Given the description of an element on the screen output the (x, y) to click on. 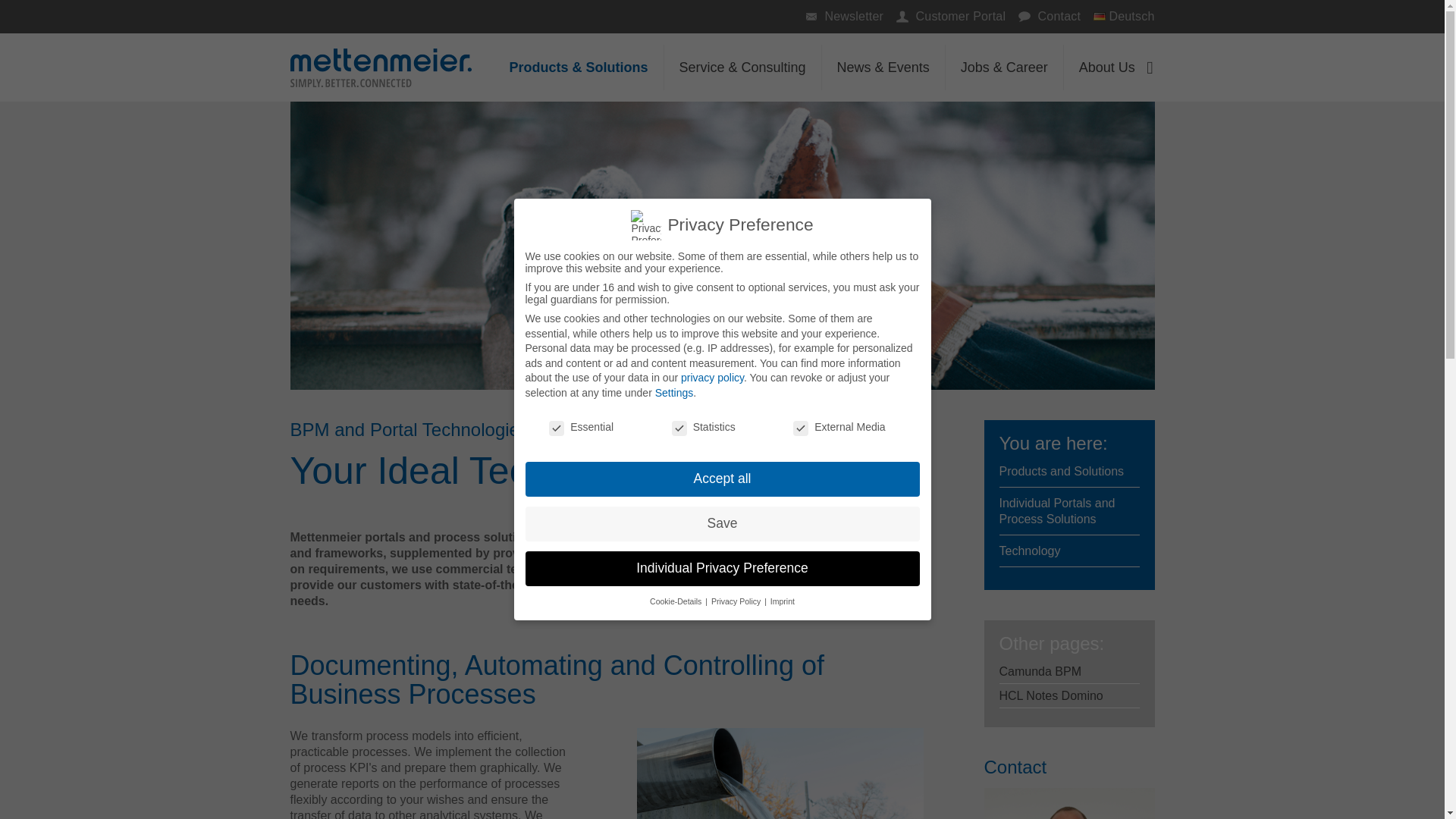
Newsletter (810, 16)
Mettenmeier (379, 67)
Customer portal (902, 16)
Contact (1023, 16)
Customer Portal (946, 16)
Newsletter (839, 16)
Contact (1045, 16)
Go to Individual Portals and Process Solutions. (1056, 510)
Deutsch (1119, 16)
Go to Products and Solutions. (1061, 471)
